Given the description of an element on the screen output the (x, y) to click on. 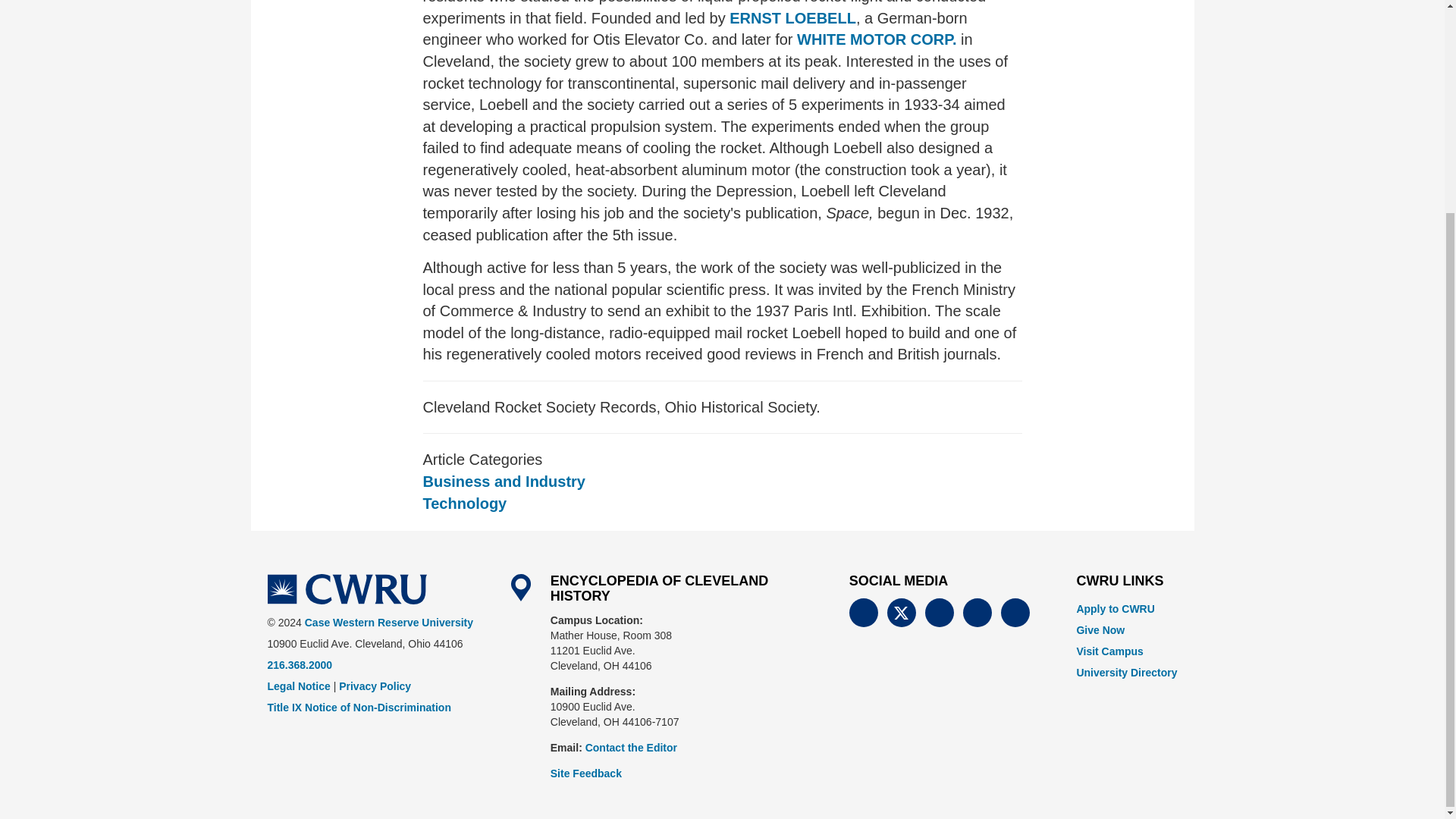
CWRU Instagram (976, 612)
WHITE MOTOR CORP. (876, 39)
Case Western Reserve University (346, 589)
Technology (464, 503)
CWRU Pinterest (1015, 612)
CWRU Twitter (900, 612)
ERNST LOEBELL (792, 17)
CWRU Youtube (938, 612)
Business and Industry (504, 481)
CWRU Facebook (862, 612)
